Given the description of an element on the screen output the (x, y) to click on. 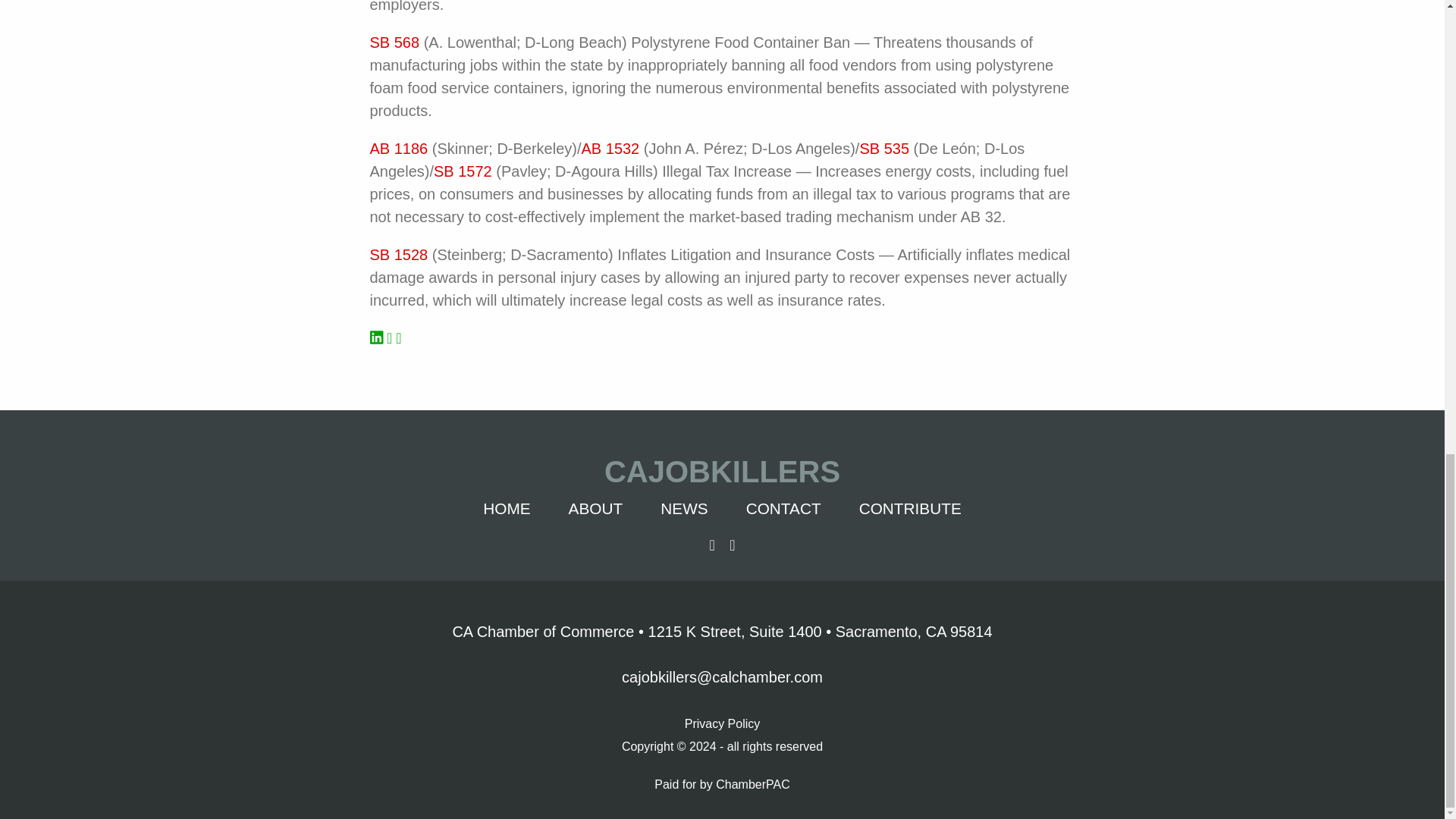
SB 535 (883, 148)
SB 1572 (462, 170)
SB 568 (394, 42)
SB 1528 (398, 254)
AB 1186 (400, 148)
Privacy Policy (722, 722)
HOME (506, 507)
CONTRIBUTE (909, 507)
AB 1532 (610, 148)
CONTACT (783, 507)
ABOUT (596, 507)
NEWS (684, 507)
CAJOBKILLERS (722, 471)
